Given the description of an element on the screen output the (x, y) to click on. 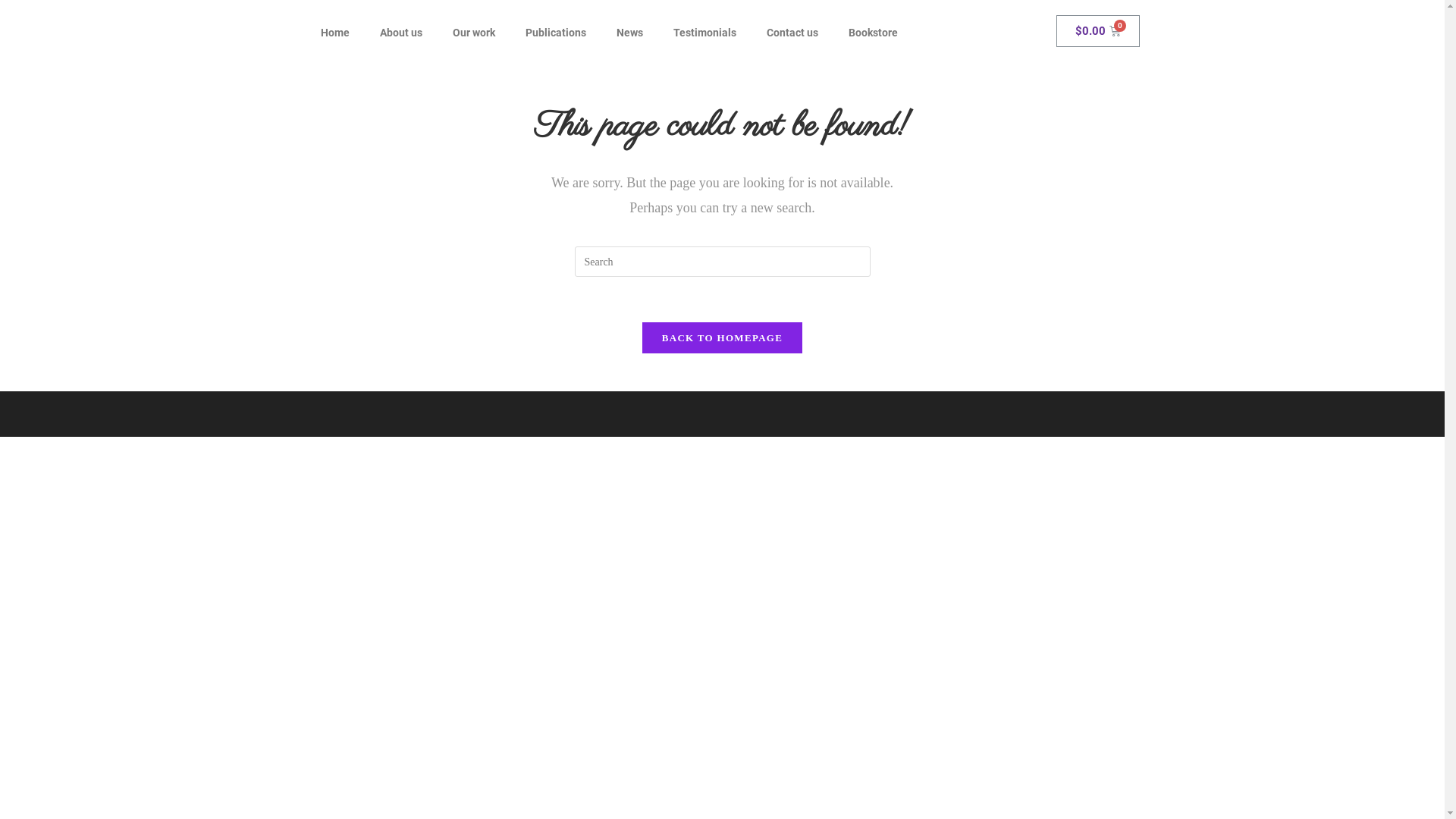
Contact us Element type: text (791, 32)
News Element type: text (628, 32)
$0.00 Element type: text (1097, 31)
Bookstore Element type: text (872, 32)
Publications Element type: text (554, 32)
Testimonials Element type: text (704, 32)
Home Element type: text (334, 32)
About us Element type: text (400, 32)
BACK TO HOMEPAGE Element type: text (722, 337)
Our work Element type: text (472, 32)
